Given the description of an element on the screen output the (x, y) to click on. 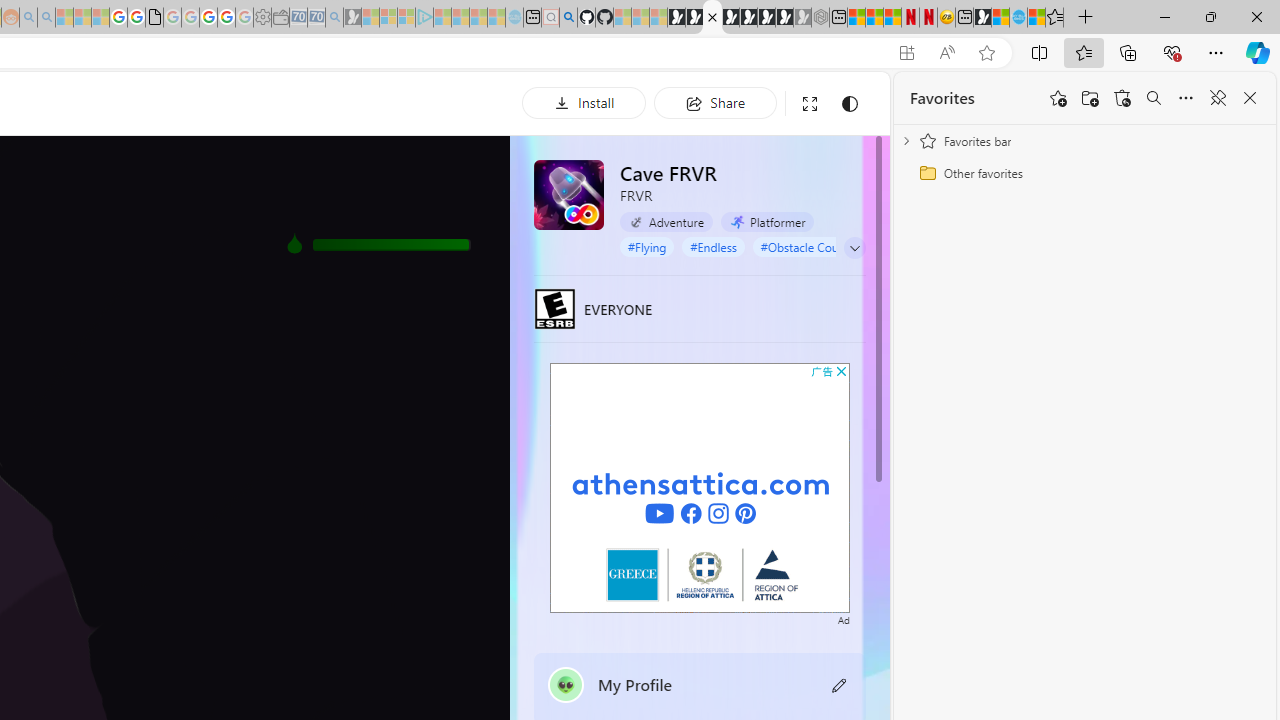
App available. Install Cave FRVR (906, 53)
Install (583, 102)
Add folder (1089, 98)
Full screen (810, 103)
Advertisement (699, 487)
